Given the description of an element on the screen output the (x, y) to click on. 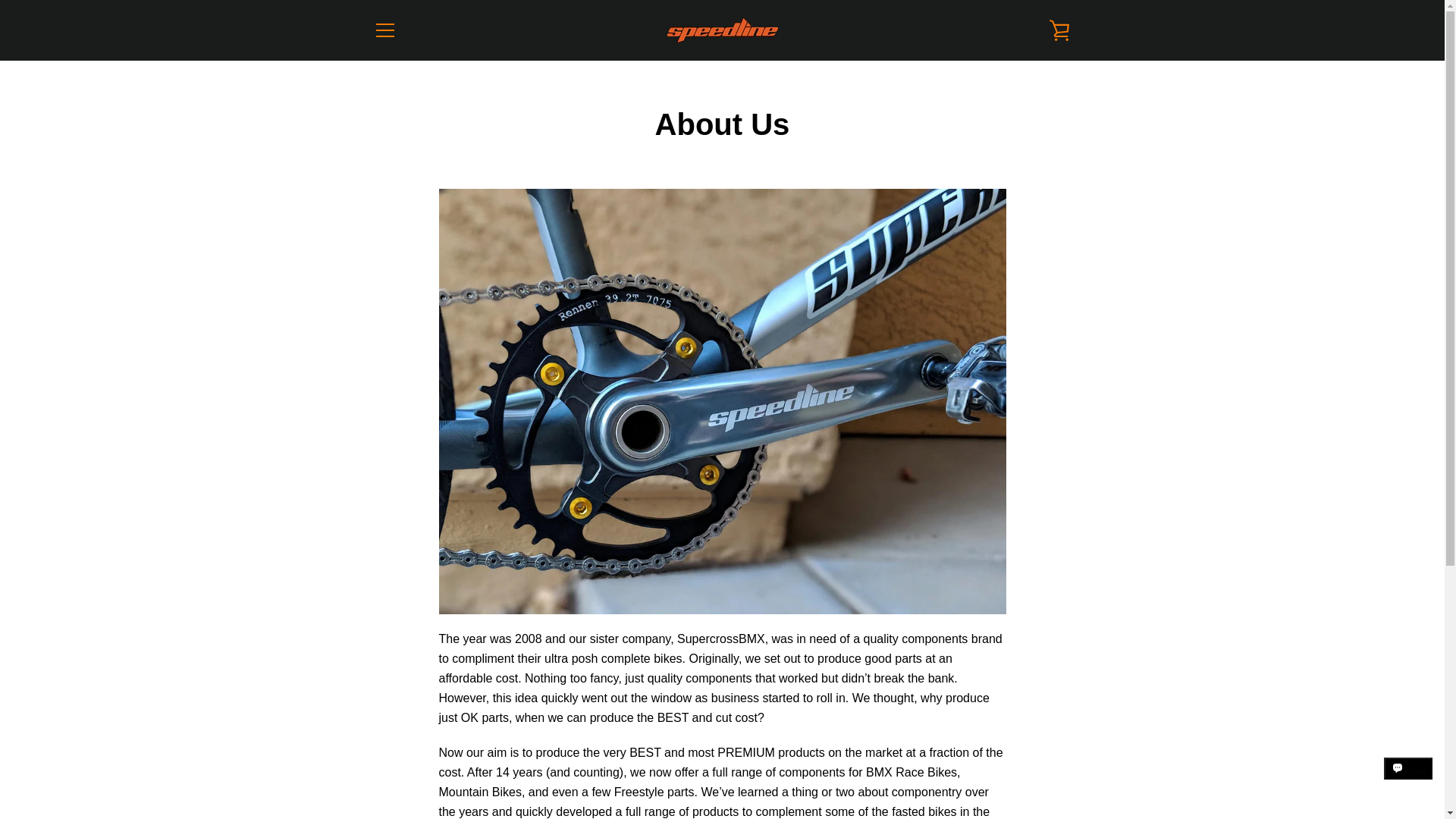
Facebook (372, 768)
Instagram (399, 768)
Shopify online store chat (1408, 781)
Speedline Parts on Facebook (372, 768)
Speedline Parts (973, 758)
MENU (384, 30)
Powered by Shopify (1004, 768)
Speedline Parts on Instagram (399, 768)
VIEW CART (1059, 30)
SUBSCRIBE (1029, 685)
